Given the description of an element on the screen output the (x, y) to click on. 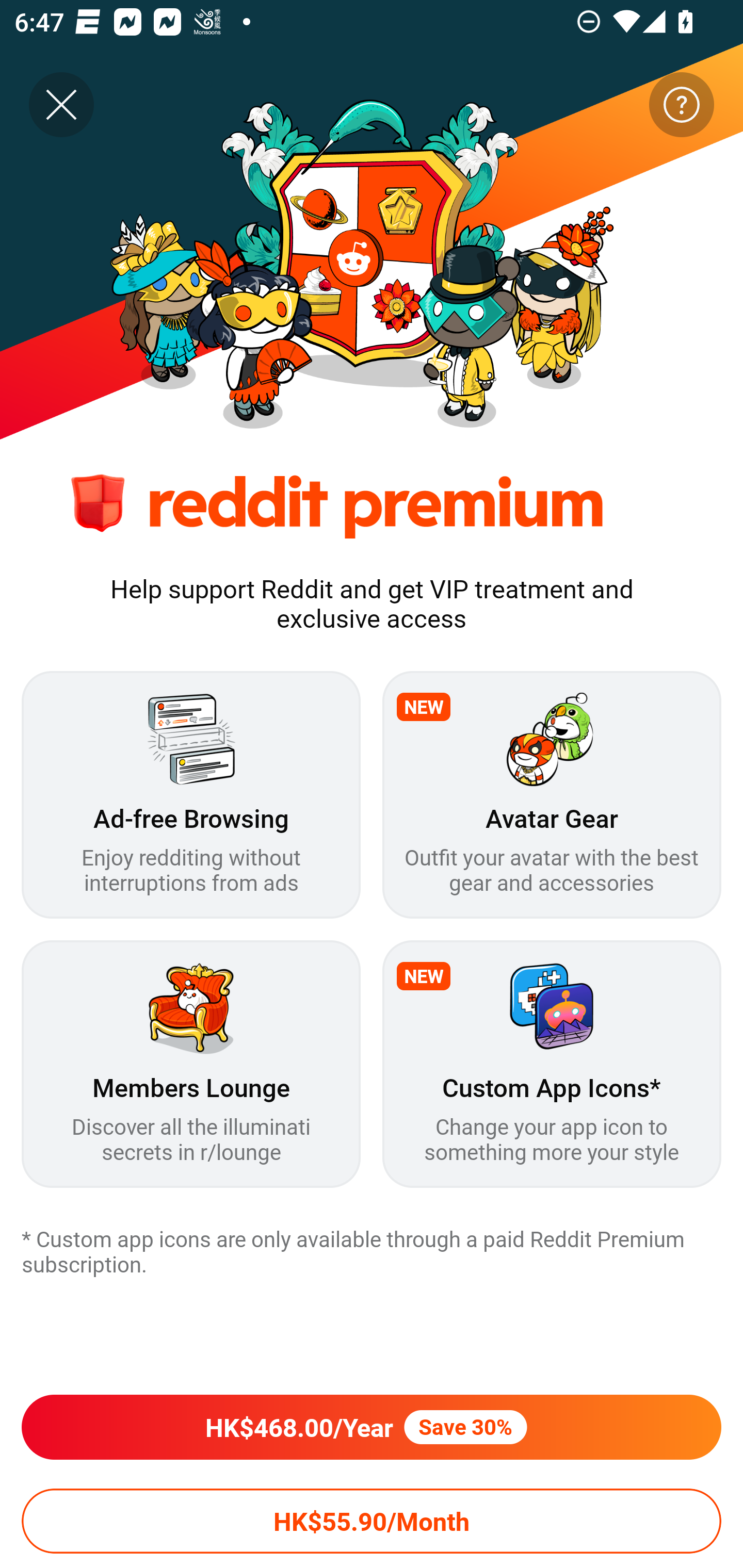
Close (60, 104)
Learn more (681, 104)
HK$468.00/YearSave 30% (371, 1426)
HK$55.90/Month (371, 1520)
